Given the description of an element on the screen output the (x, y) to click on. 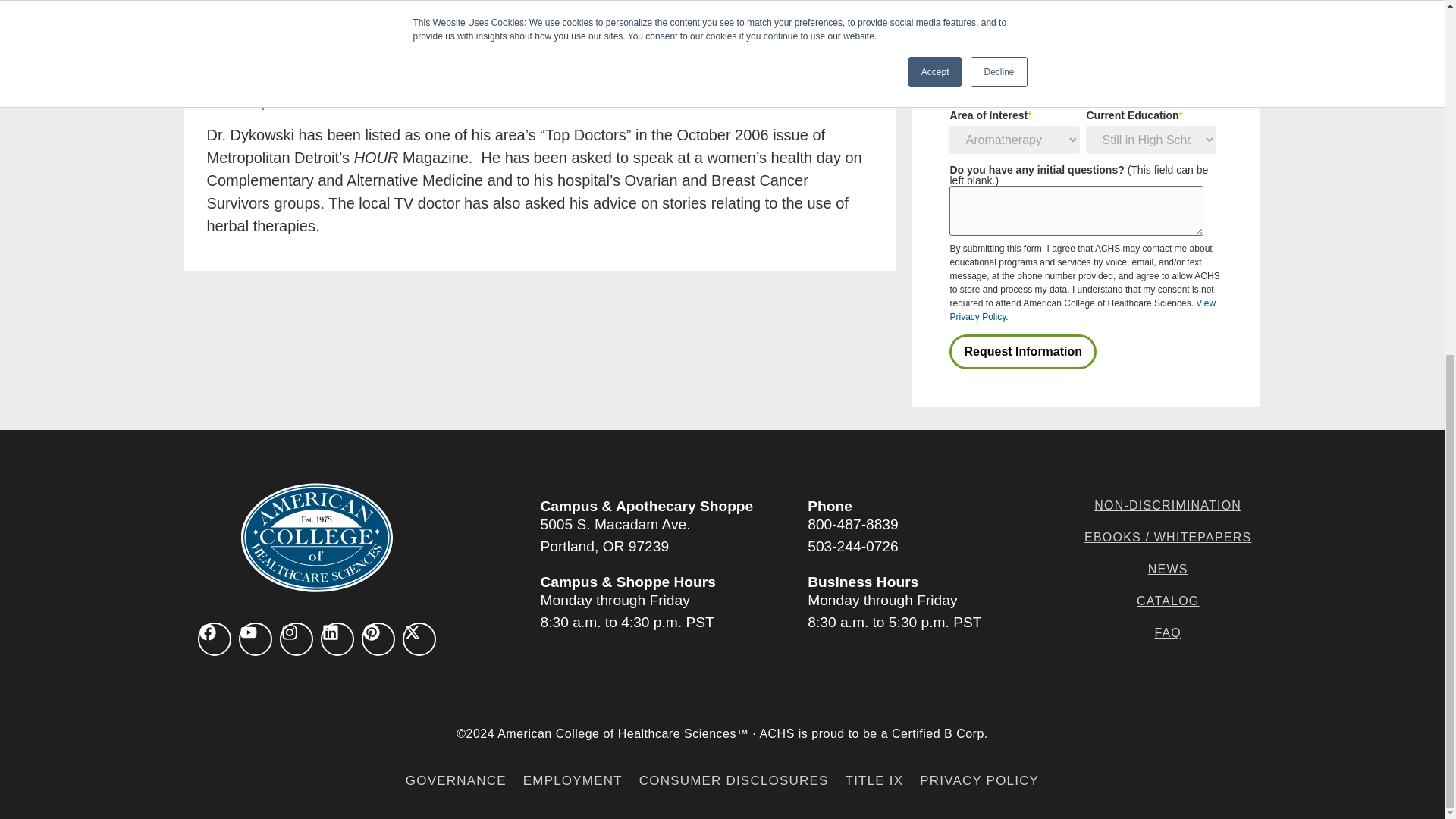
Request Information (1022, 351)
